Given the description of an element on the screen output the (x, y) to click on. 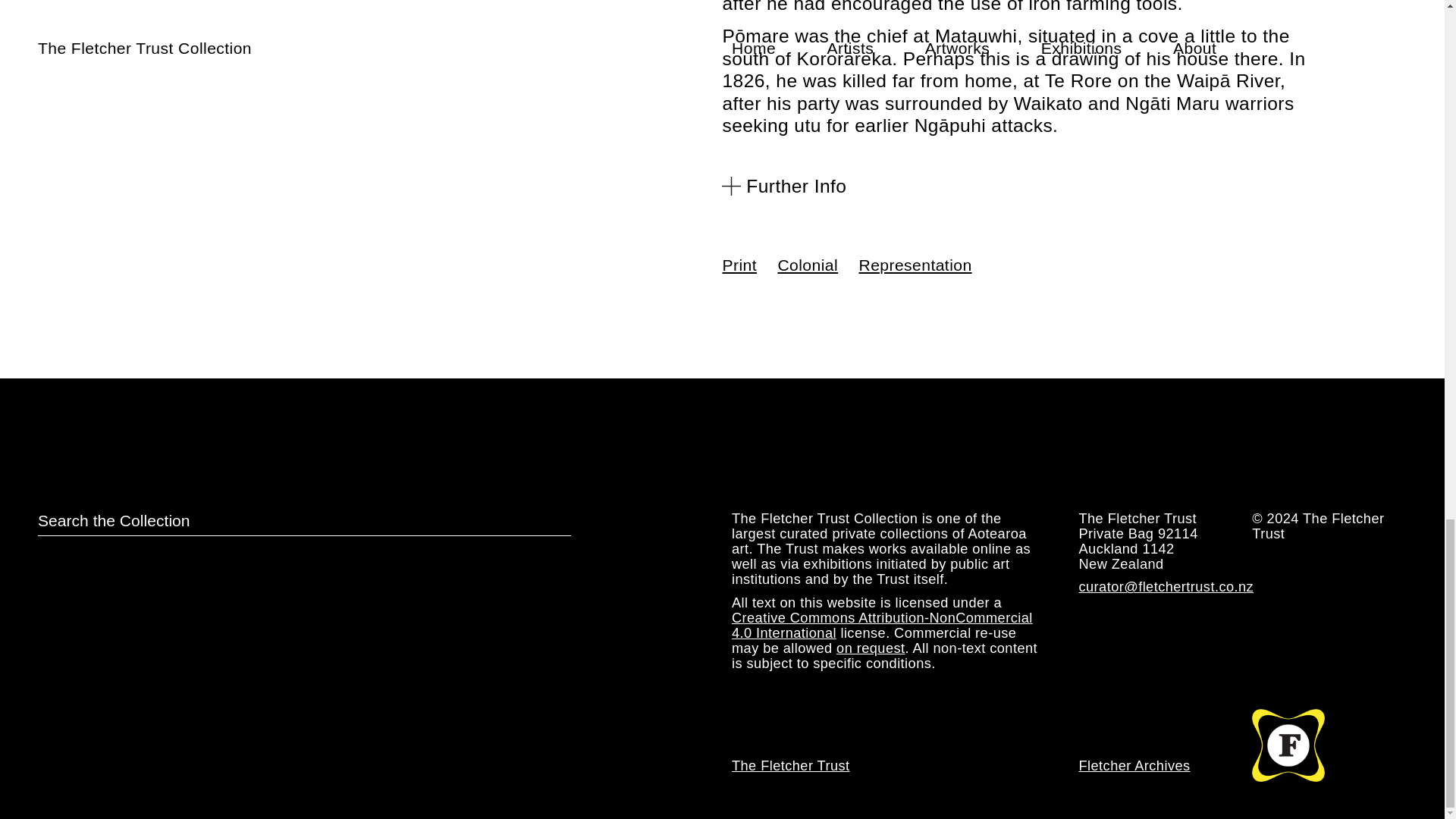
Search for: (303, 523)
on request (869, 647)
Creative Commons Attribution-NonCommercial 4.0 International (882, 624)
The Fletcher Trust (791, 765)
Print (739, 264)
Representation (915, 264)
Fletcher Archives (1133, 765)
Colonial (807, 264)
